Given the description of an element on the screen output the (x, y) to click on. 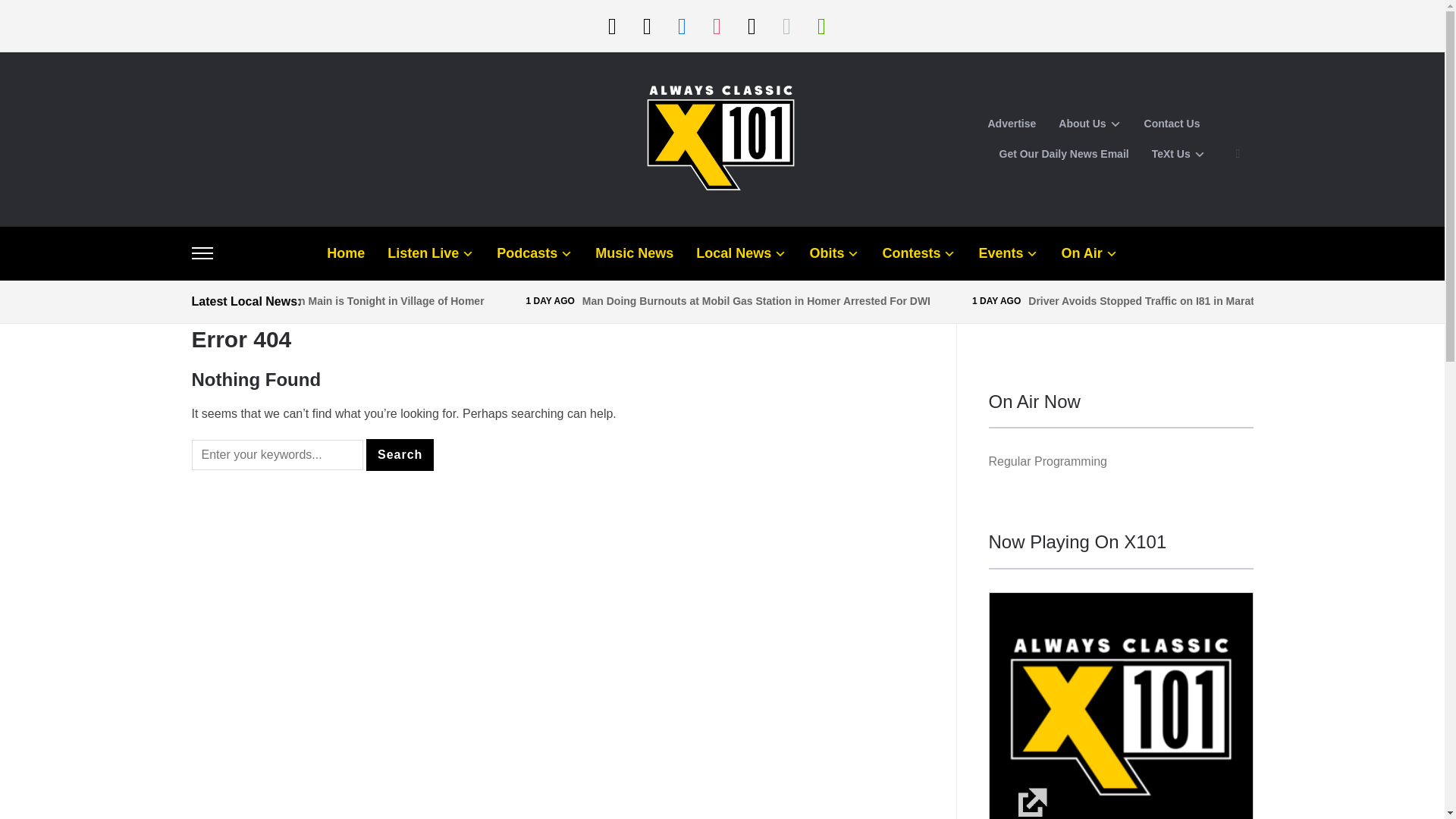
TeXt Us (1178, 154)
Facebook (680, 24)
facebook (680, 24)
Search (399, 454)
Default Label (820, 24)
Default Label (646, 24)
Instagram (715, 24)
About Us (1089, 123)
phone (646, 24)
x (750, 24)
